Given the description of an element on the screen output the (x, y) to click on. 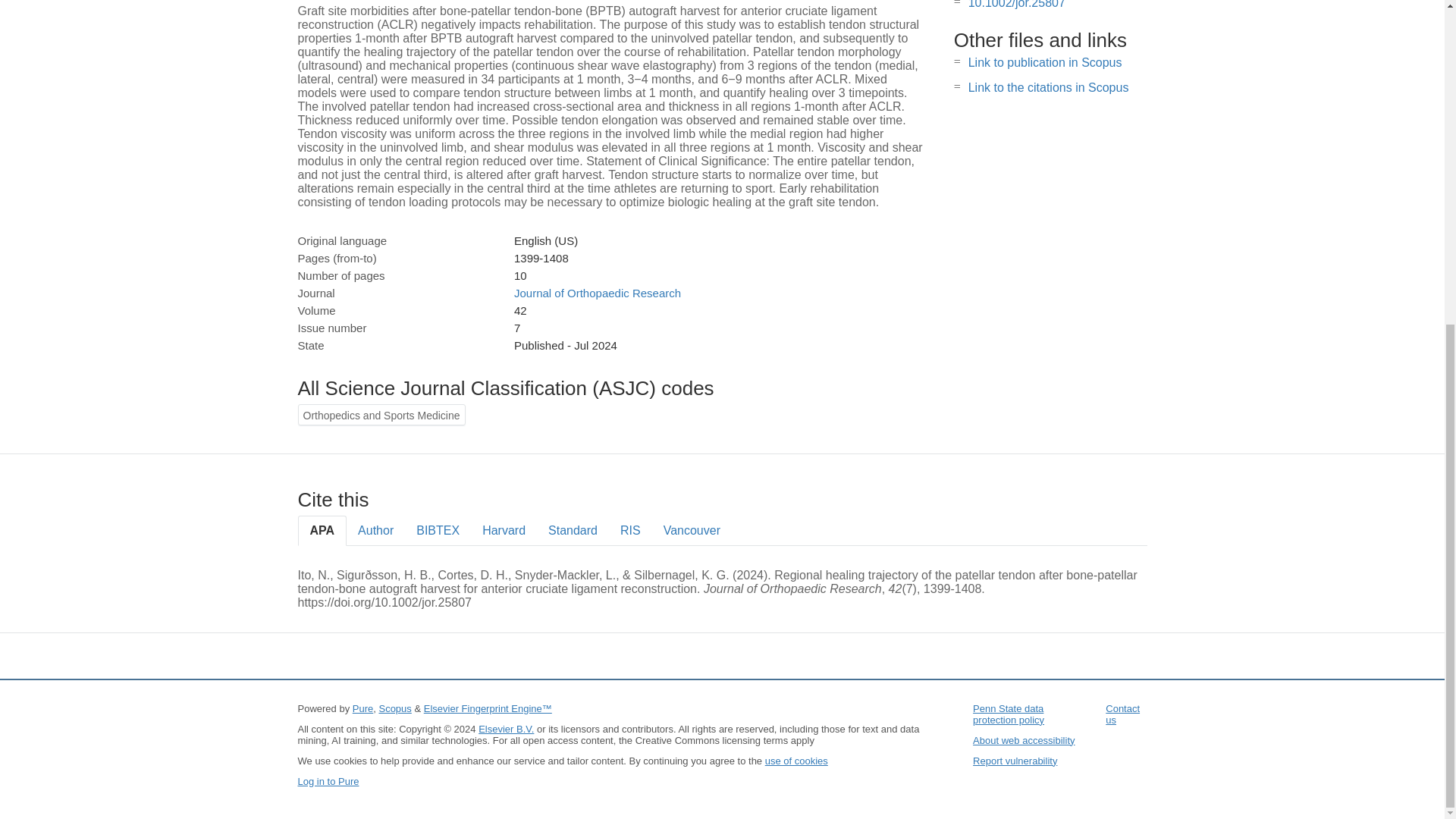
use of cookies (796, 760)
Scopus (394, 708)
About web accessibility (1023, 740)
Contact us (1122, 713)
Link to publication in Scopus (1045, 62)
Log in to Pure (327, 781)
Penn State data protection policy (1007, 713)
Report vulnerability (1014, 760)
Link to the citations in Scopus (1048, 87)
Journal of Orthopaedic Research (597, 292)
Pure (362, 708)
Elsevier B.V. (506, 728)
